Given the description of an element on the screen output the (x, y) to click on. 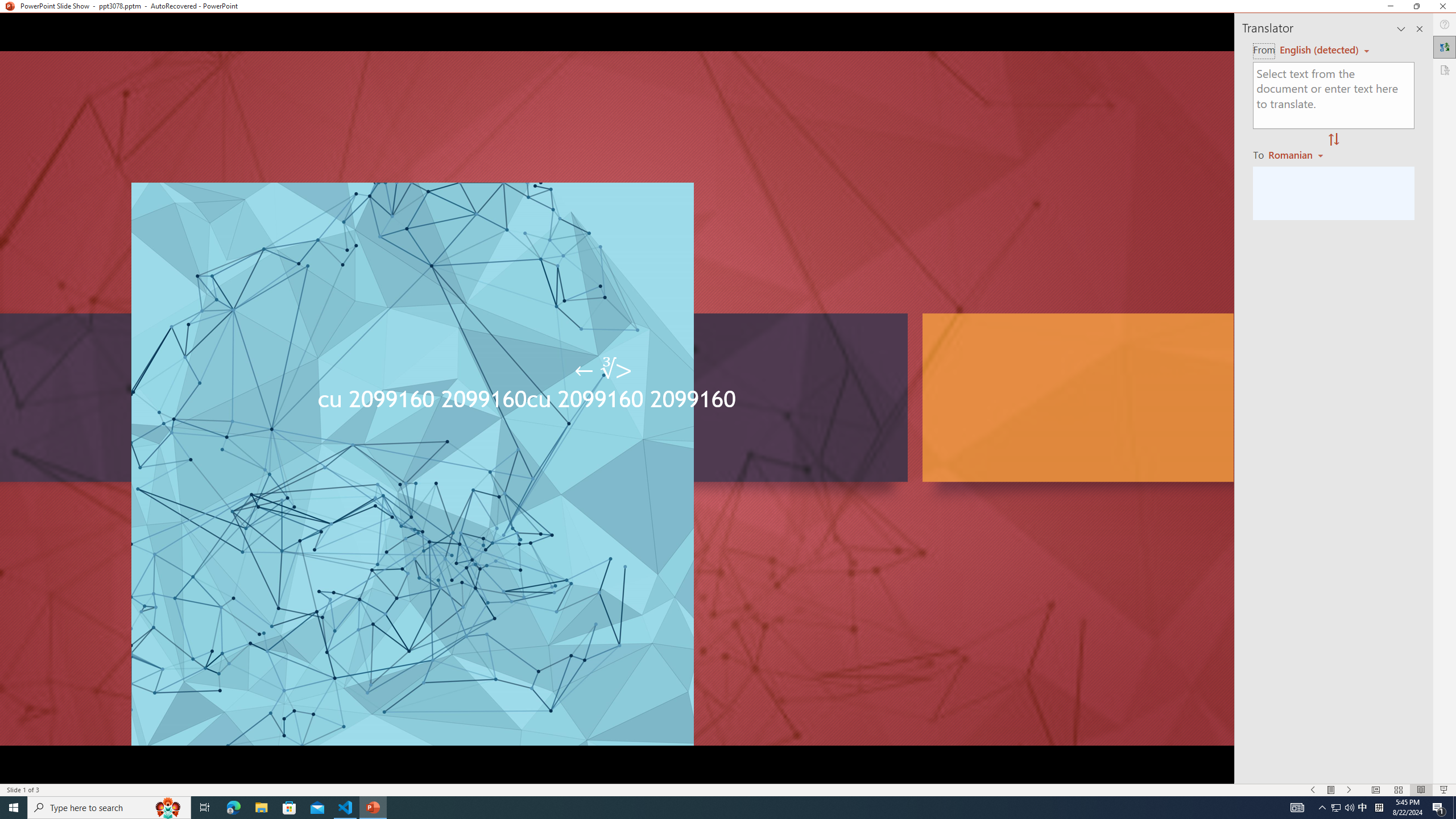
Menu On (1331, 790)
Slide Show Next On (1349, 790)
Czech (detected) (1319, 50)
Slide Show Previous On (1313, 790)
Romanian (1296, 154)
